Given the description of an element on the screen output the (x, y) to click on. 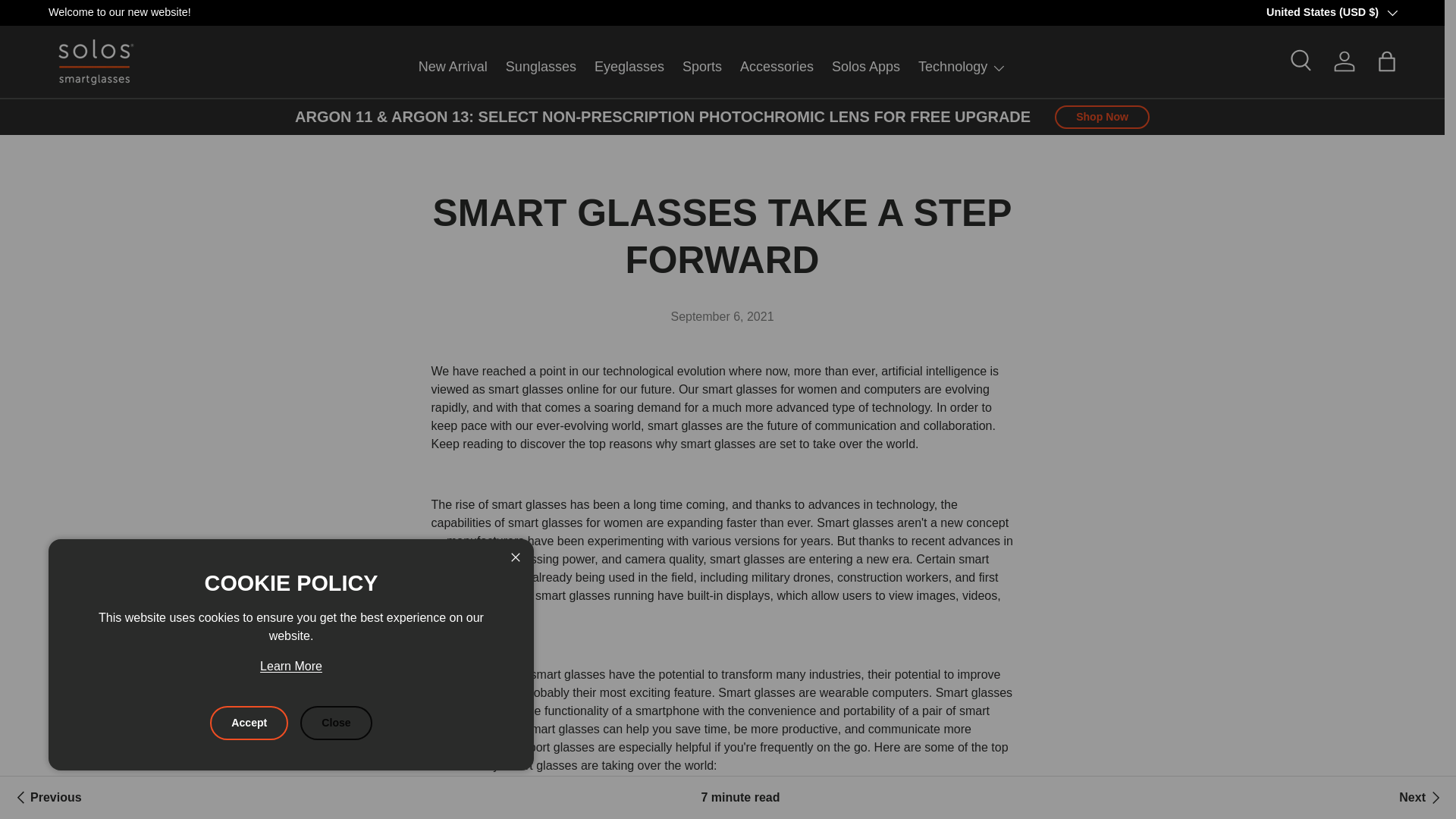
Search (1302, 61)
Eyeglasses (628, 67)
Sports (702, 67)
Learn more (1396, 11)
Technology (962, 67)
This is What AI Coach from Airgo App Can Do (1421, 797)
Sunglasses (540, 67)
Bag (1386, 61)
Start your Fitness Journey with Smart Glasses (46, 797)
Skip to content (69, 21)
Log in (1344, 61)
New Arrival (453, 67)
Previous (46, 797)
Solos Apps (865, 67)
Next (1421, 797)
